Given the description of an element on the screen output the (x, y) to click on. 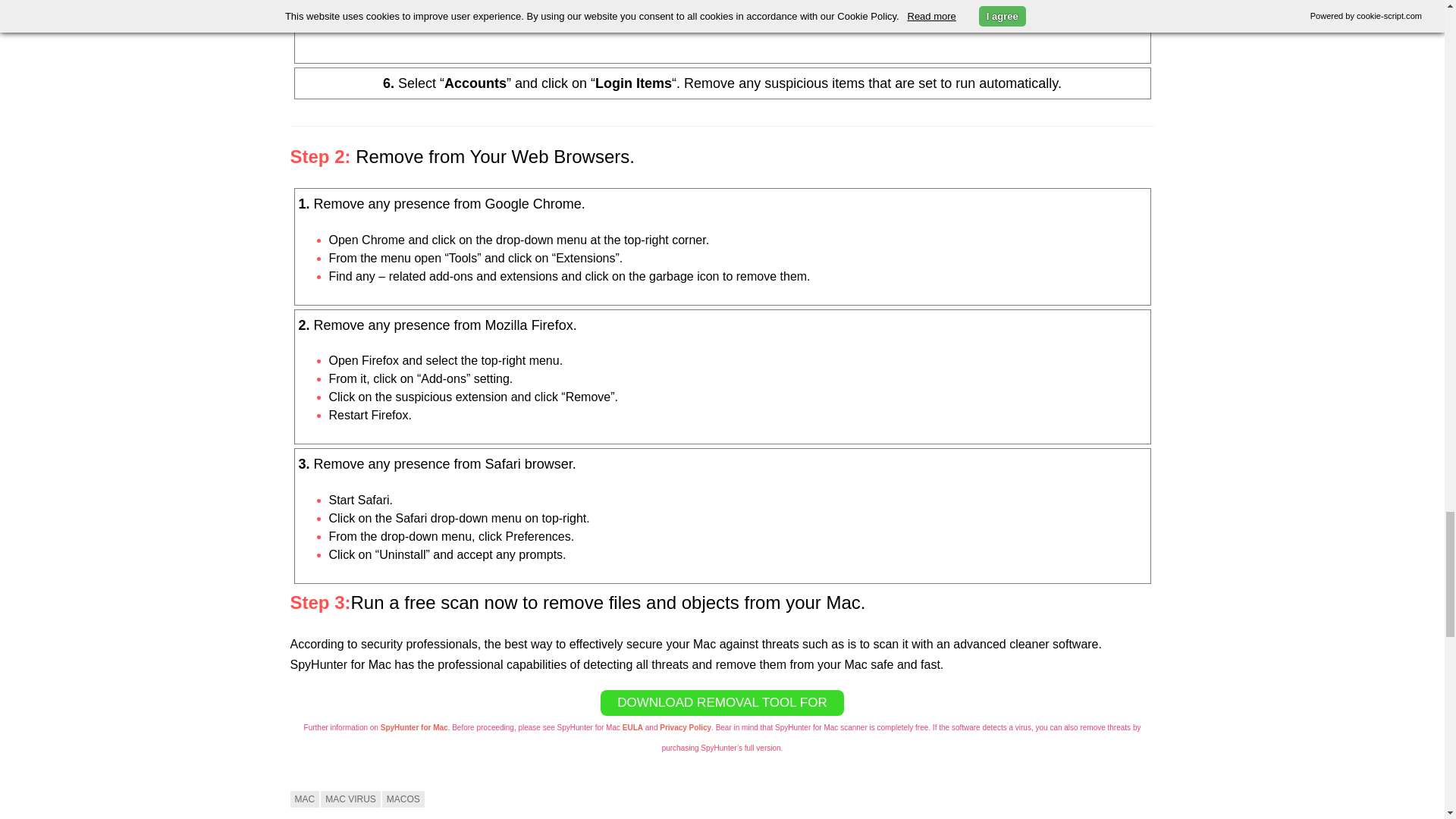
MACOS (403, 798)
MAC (303, 798)
MAC VIRUS (350, 798)
DOWNLOAD REMOVAL TOOL FOR (721, 702)
SpyHunter for Mac (414, 727)
EULA (633, 727)
Privacy Policy (685, 727)
